Given the description of an element on the screen output the (x, y) to click on. 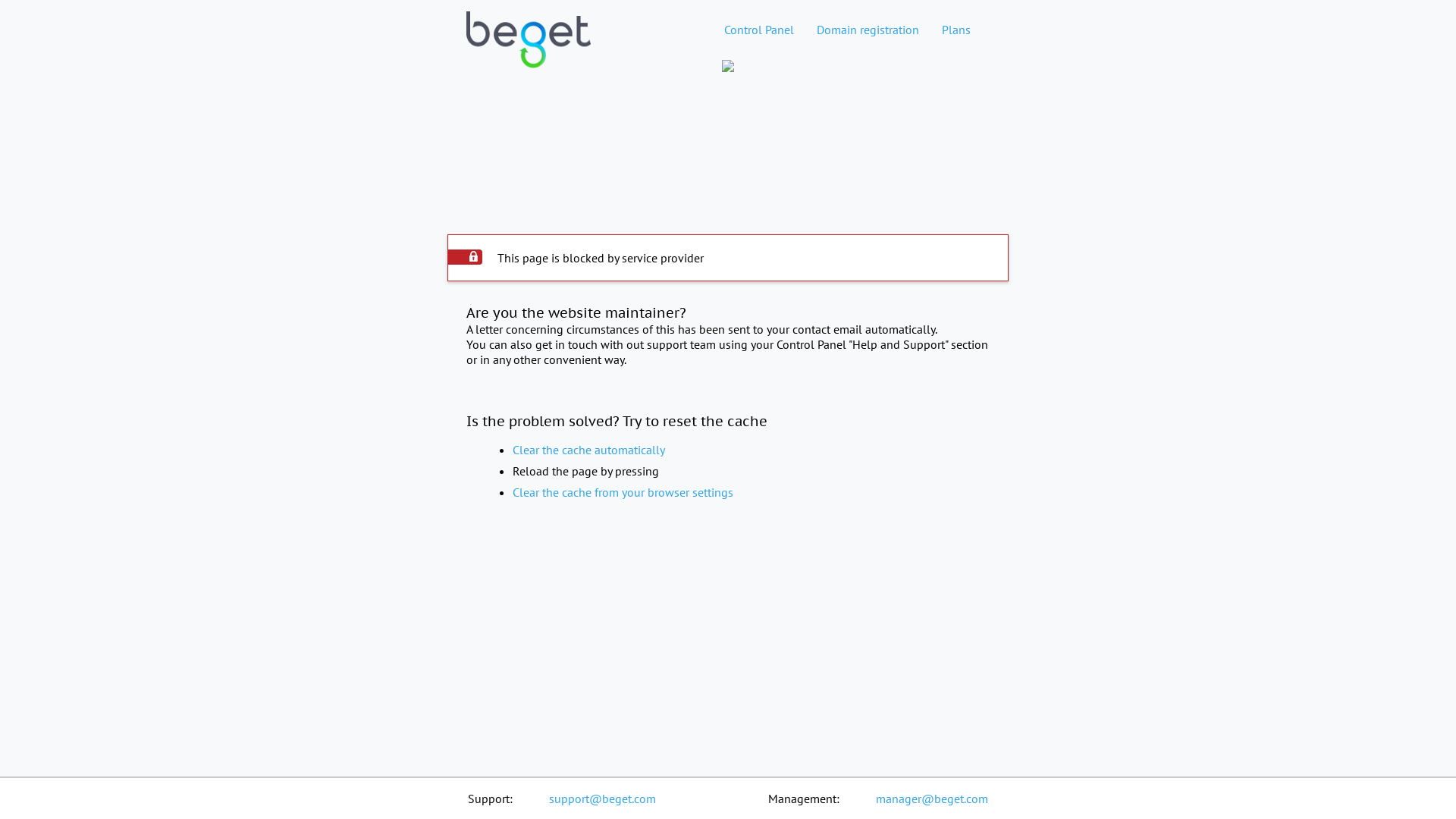
support@beget.com Element type: text (602, 798)
Web hosting home page Element type: hover (528, 51)
manager@beget.com Element type: text (931, 798)
Clear the cache automatically Element type: text (588, 449)
Control Panel Element type: text (758, 29)
Domain registration Element type: text (867, 29)
Clear the cache from your browser settings Element type: text (622, 491)
Plans Element type: text (956, 29)
